Given the description of an element on the screen output the (x, y) to click on. 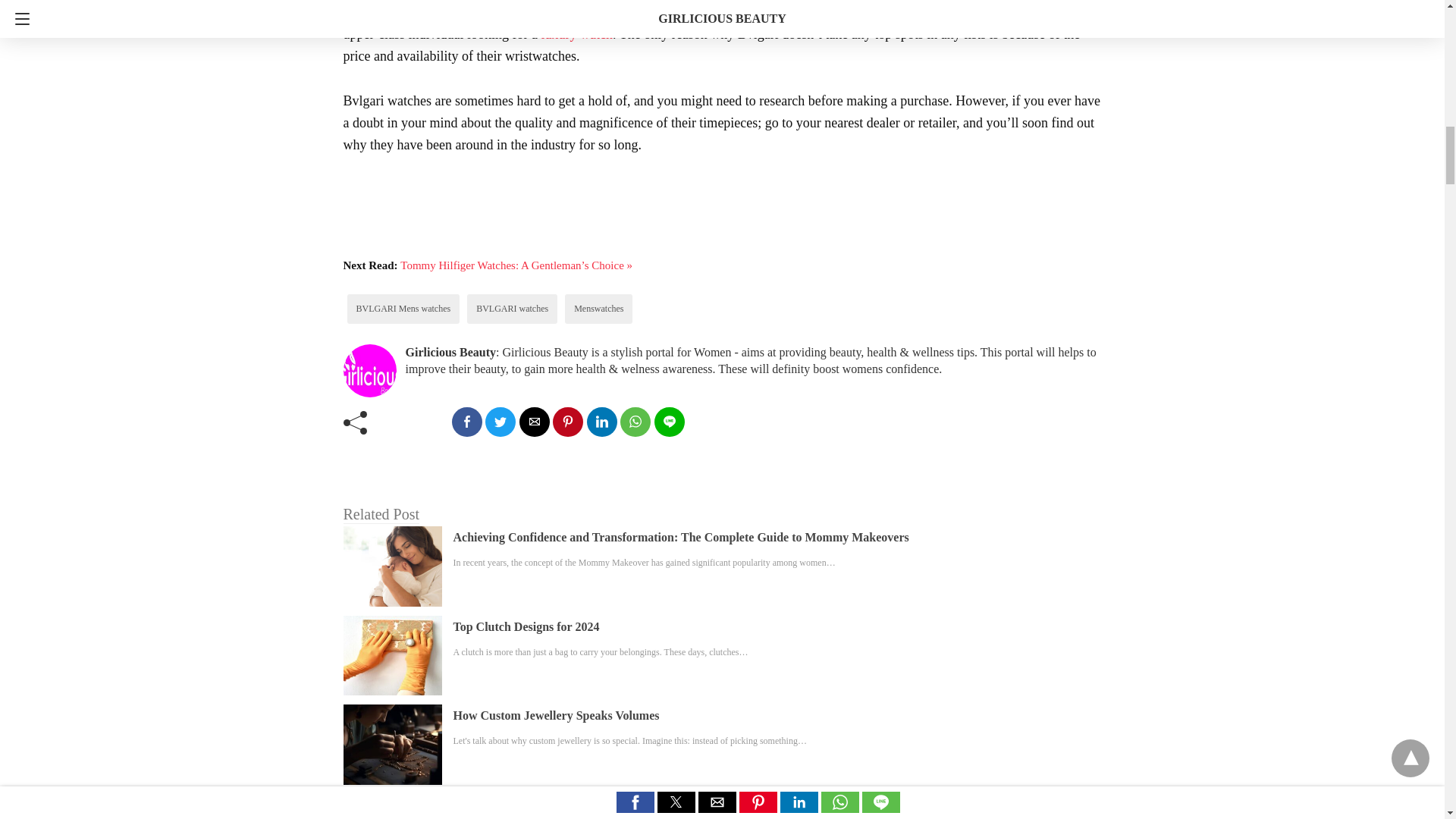
BVLGARI watches (512, 308)
7 Things to Consider When Choosing Ballroom Dance Shoes (608, 804)
Top Clutch Designs for 2024 (525, 626)
line share (668, 421)
whatsapp share (635, 421)
linkedin share (601, 421)
twitter share (499, 421)
luxury watch (576, 33)
7 Things to Consider When Choosing Ballroom Dance Shoes (608, 804)
AddThis Website Tools (577, 228)
BVLGARI Mens watches (403, 308)
pinterest share (568, 421)
mailto (533, 421)
Menswatches (598, 308)
